Given the description of an element on the screen output the (x, y) to click on. 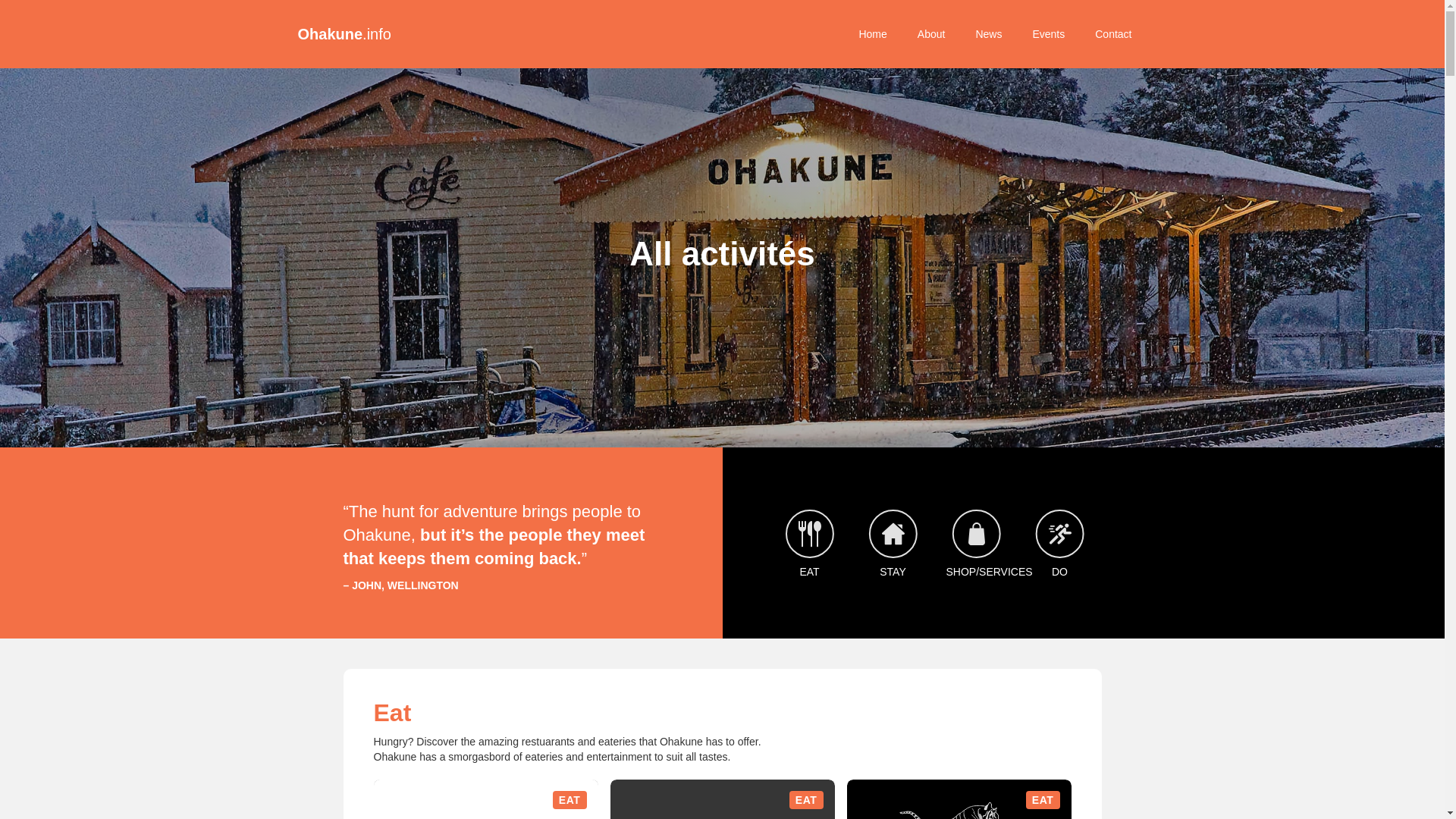
About (957, 799)
Ohakune.info (931, 33)
Contact (484, 799)
Events (722, 799)
EAT (343, 33)
Home (1113, 33)
DO (1048, 33)
